Given the description of an element on the screen output the (x, y) to click on. 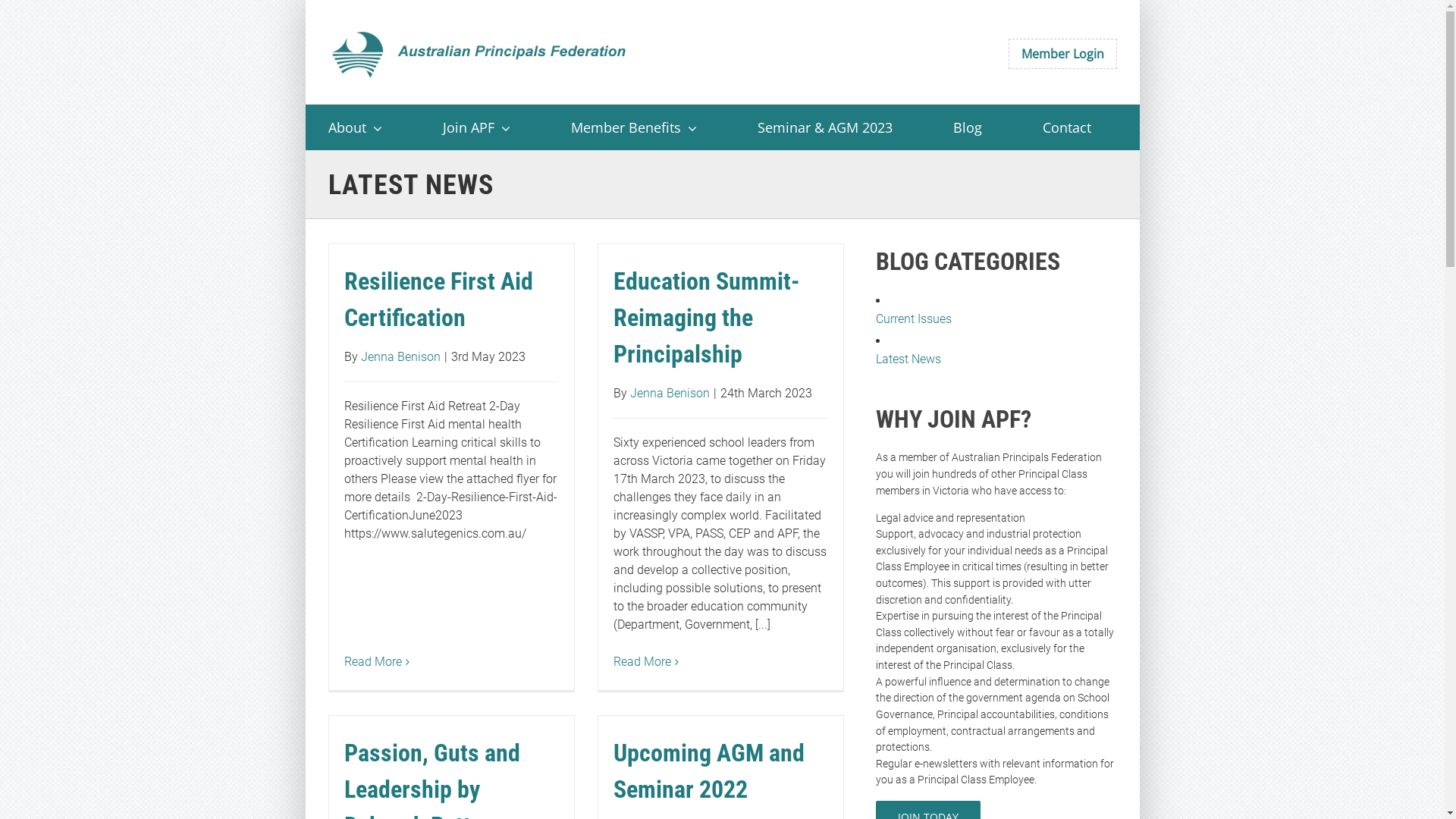
Current Issues Element type: text (995, 319)
Jenna Benison Element type: text (669, 392)
About Element type: text (354, 127)
Blog Element type: text (966, 127)
Read More Element type: text (372, 661)
Contact Element type: text (1066, 127)
Seminar & AGM 2023 Element type: text (824, 127)
Jenna Benison Element type: text (400, 356)
Education Summit- Reimaging the Principalship Element type: text (705, 317)
Join APF Element type: text (476, 127)
Read More Element type: text (641, 661)
Latest News Element type: text (995, 359)
Resilience First Aid Certification Element type: text (438, 299)
Member Benefits Element type: text (632, 127)
Upcoming AGM and Seminar 2022 Element type: text (707, 770)
Member Login Element type: text (1062, 53)
